Given the description of an element on the screen output the (x, y) to click on. 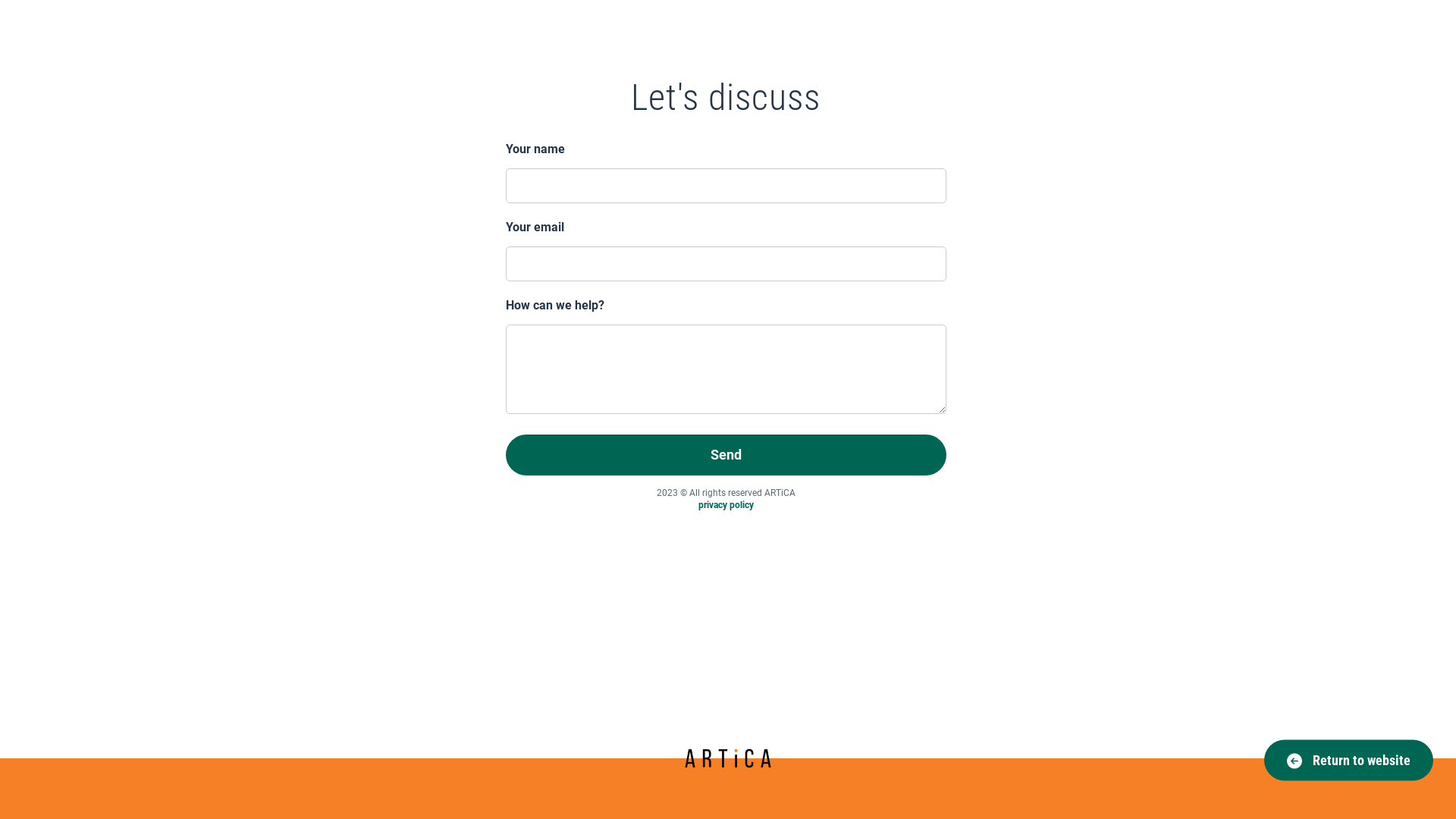
privacy policy Element type: text (725, 504)
Send Element type: text (726, 454)
Return to website Element type: text (1348, 760)
